Given the description of an element on the screen output the (x, y) to click on. 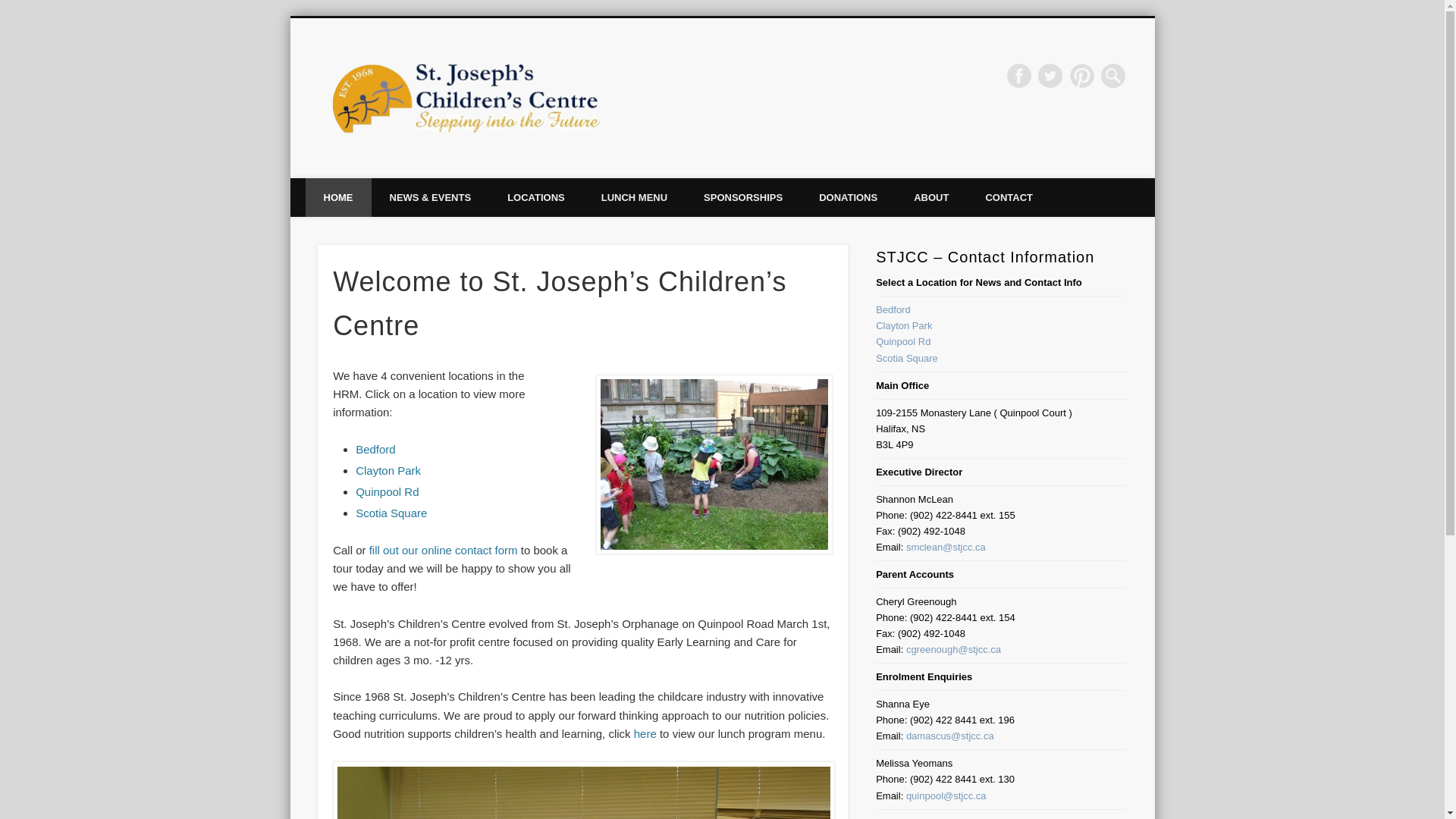
Bedford (893, 309)
ABOUT (930, 197)
LOCATIONS (536, 197)
Clayton Park (387, 470)
Quinpool Rd (903, 341)
Quinpool Rd (903, 341)
Bedford (893, 309)
Search (11, 7)
HOME (337, 197)
LUNCH MENU (634, 197)
